Given the description of an element on the screen output the (x, y) to click on. 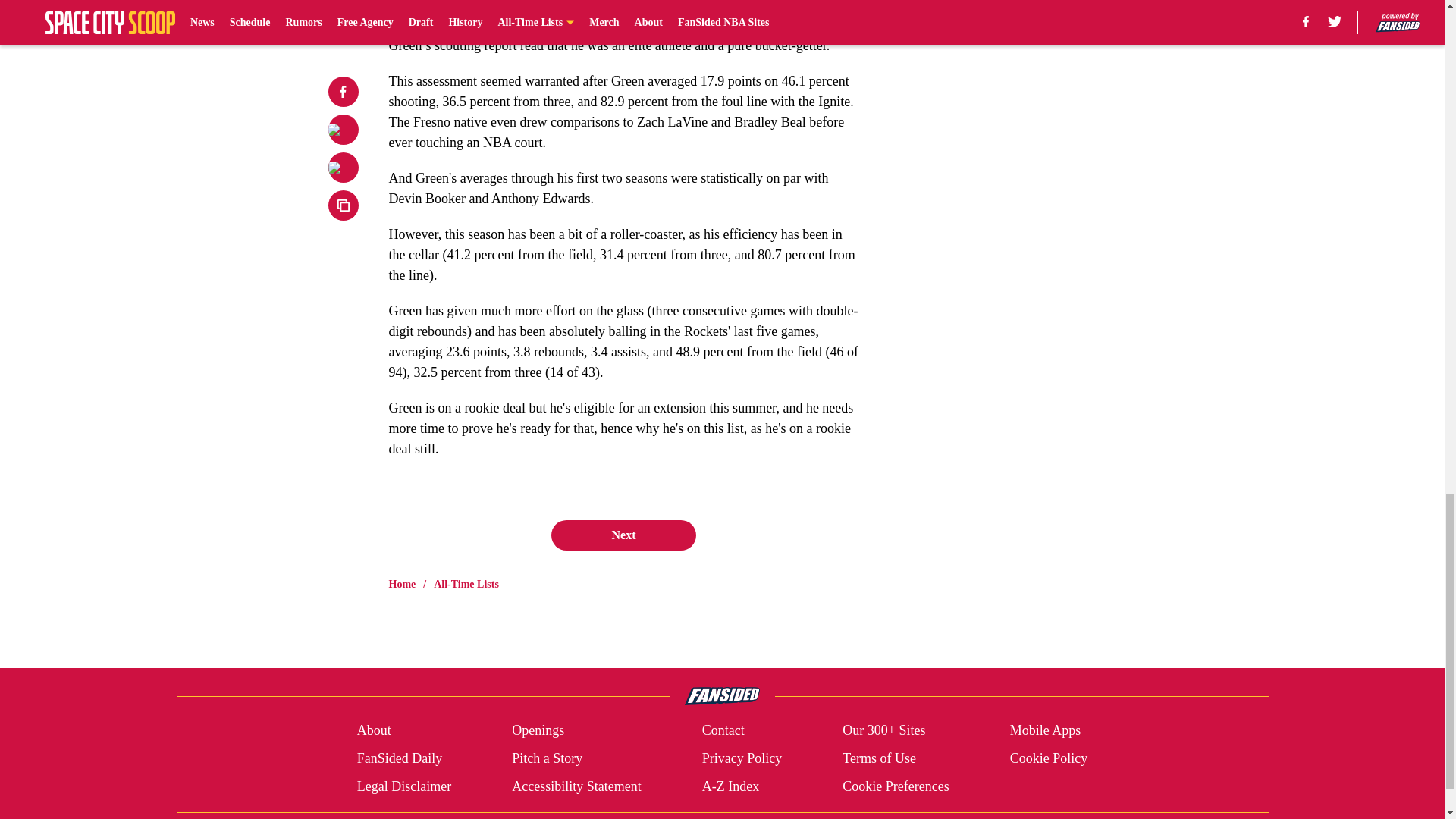
FanSided Daily (399, 758)
Next (622, 535)
Mobile Apps (1045, 730)
Pitch a Story (547, 758)
Home (401, 584)
Openings (538, 730)
About (373, 730)
Privacy Policy (742, 758)
Contact (722, 730)
All-Time Lists (466, 584)
